Given the description of an element on the screen output the (x, y) to click on. 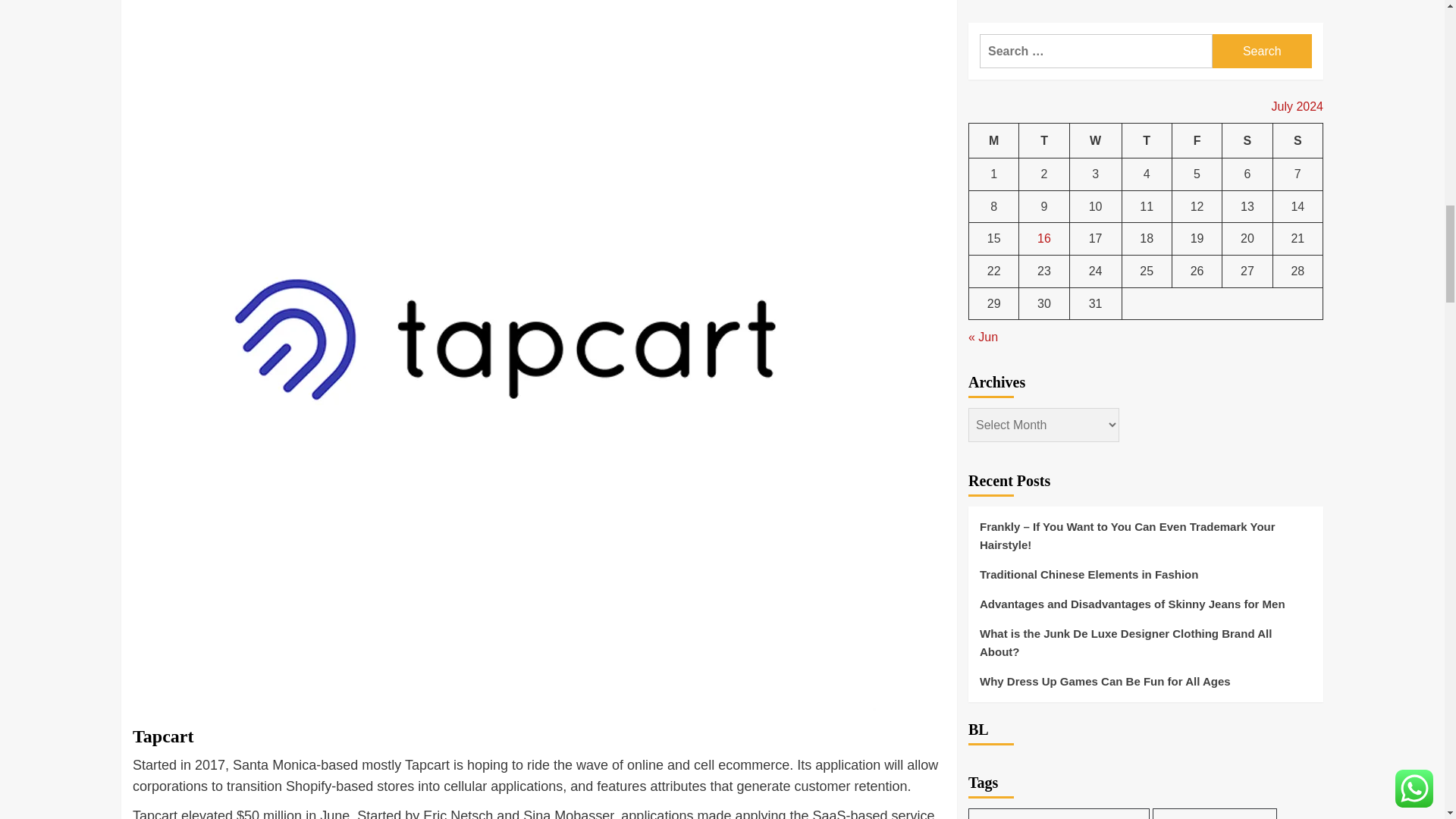
Seedbacklink (986, 437)
